Given the description of an element on the screen output the (x, y) to click on. 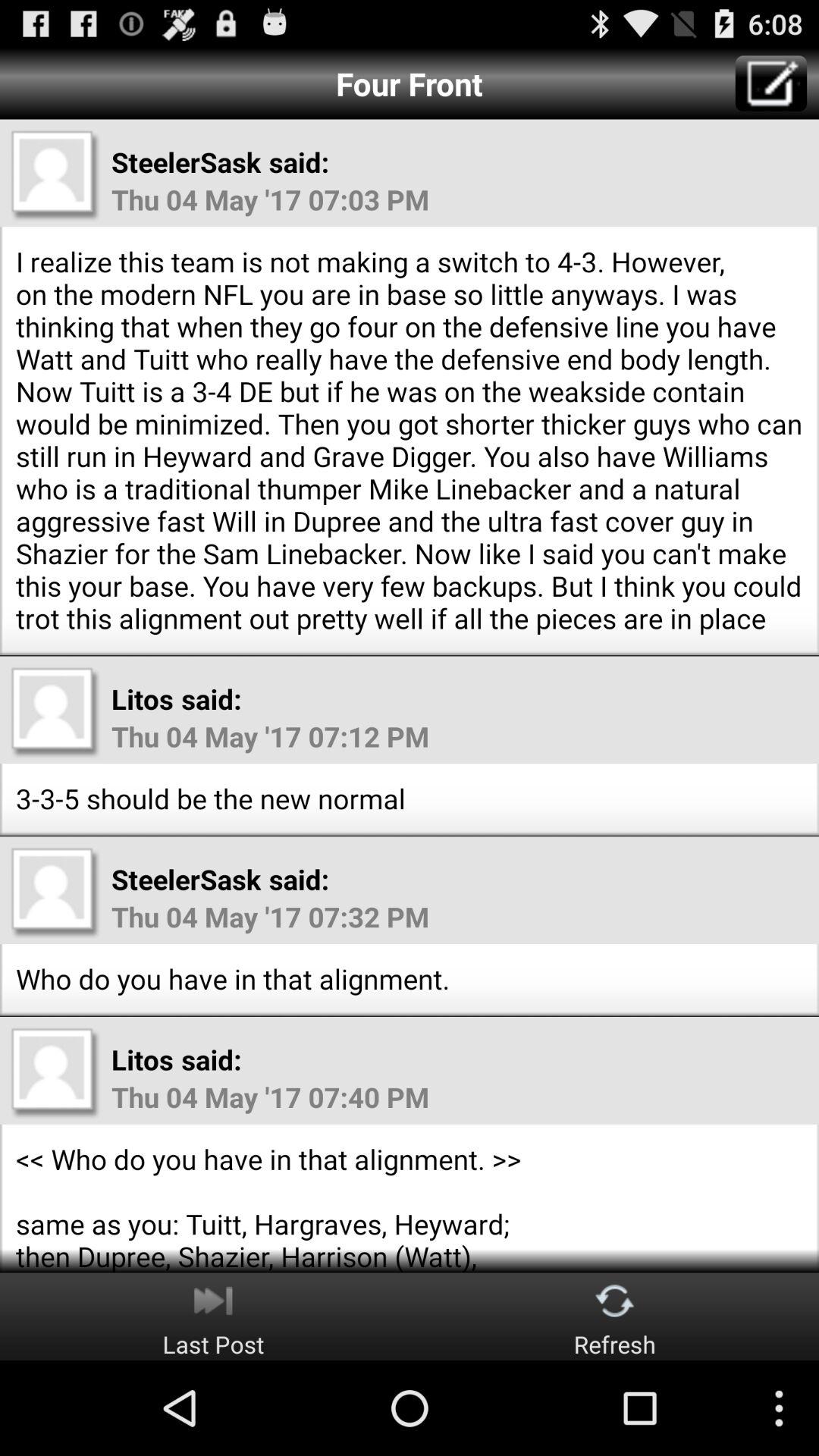
turn on icon next to the last post item (615, 1316)
